Given the description of an element on the screen output the (x, y) to click on. 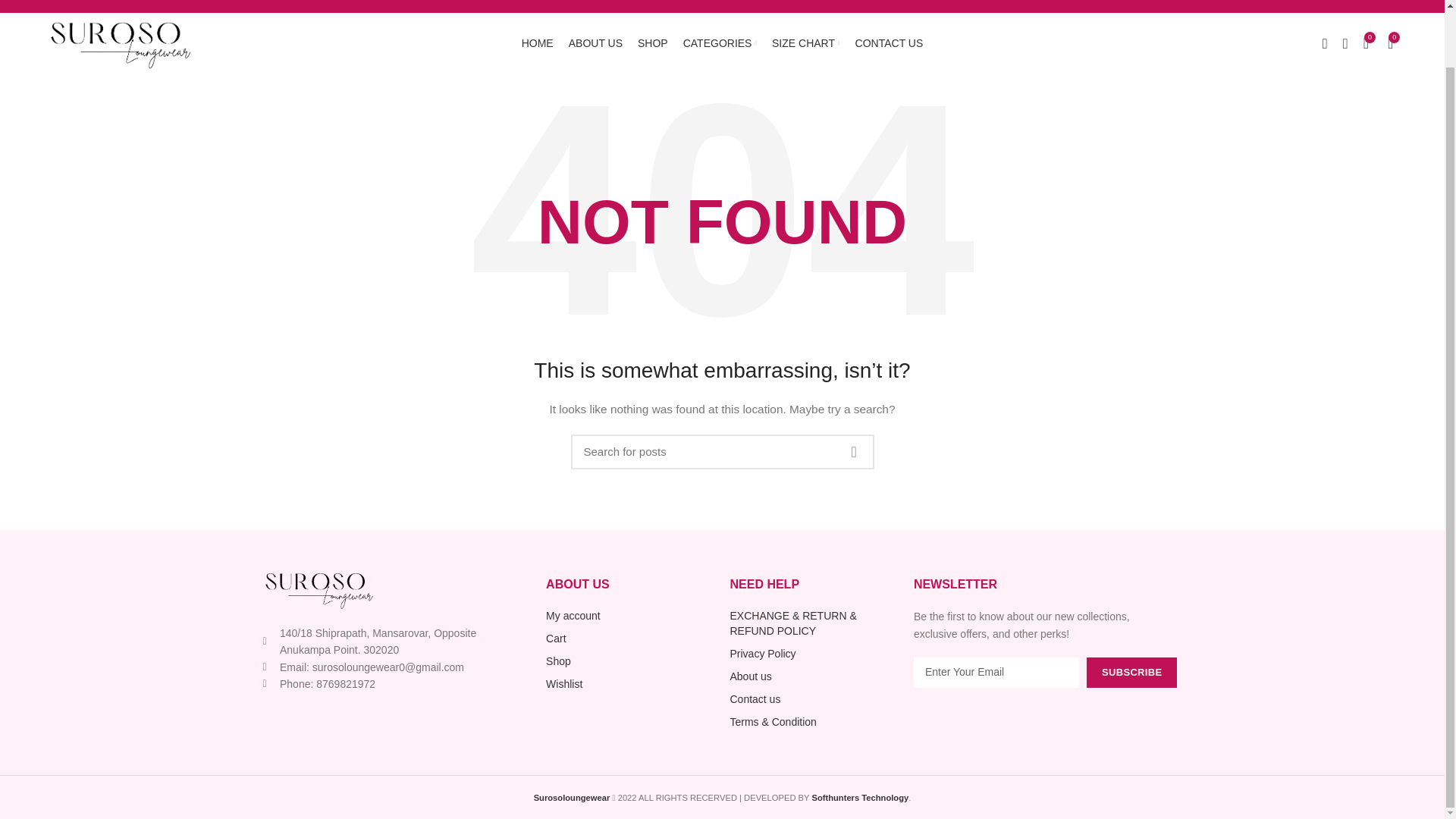
Cart (630, 638)
Contact us (813, 698)
Wishlist (630, 683)
SIZE CHART (805, 42)
SEARCH (853, 451)
Shop (630, 661)
HOME (536, 42)
Privacy Policy (813, 653)
Search for posts (721, 451)
SHOP (652, 42)
